Given the description of an element on the screen output the (x, y) to click on. 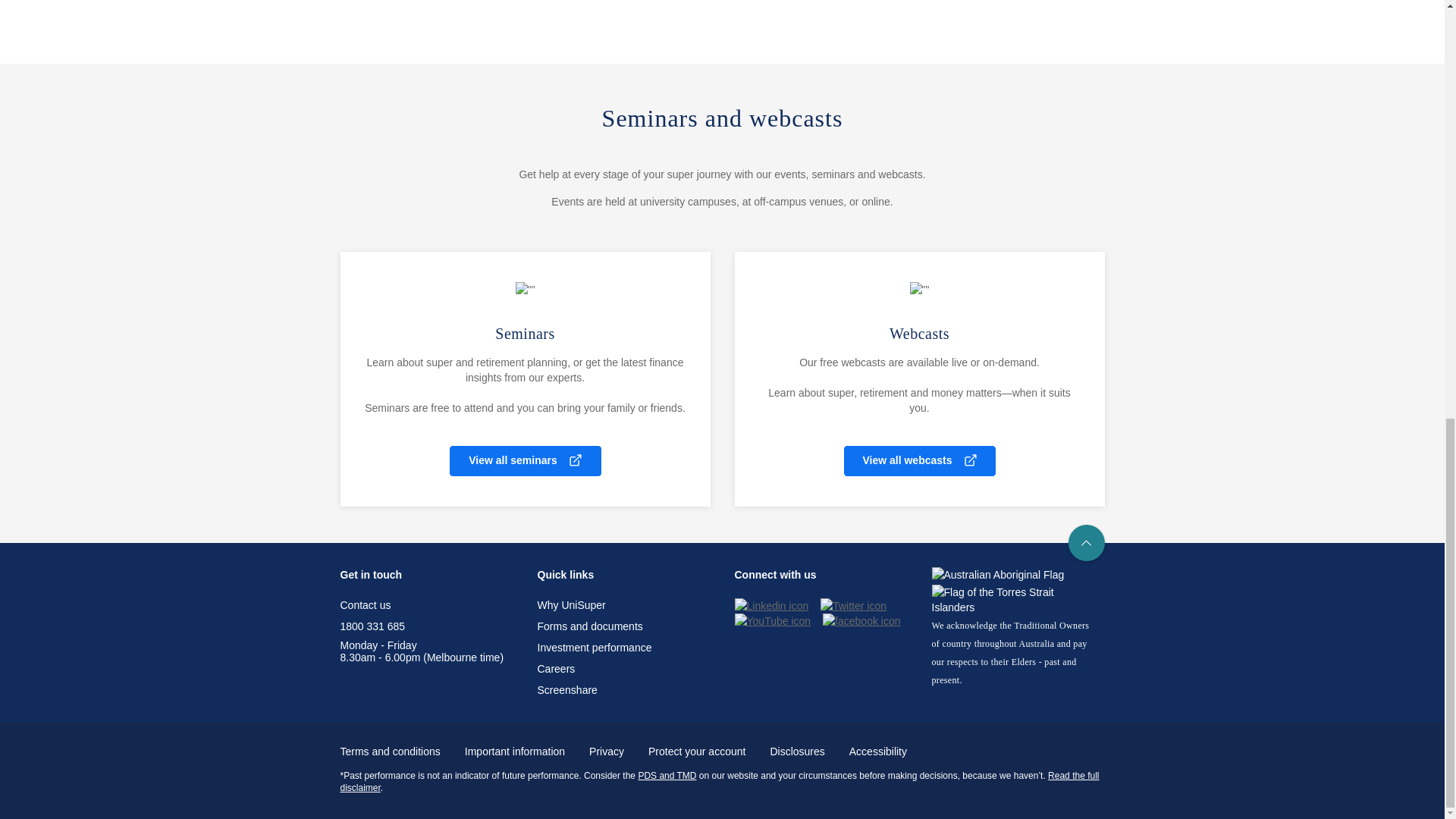
Scroll to top (1085, 542)
